Given the description of an element on the screen output the (x, y) to click on. 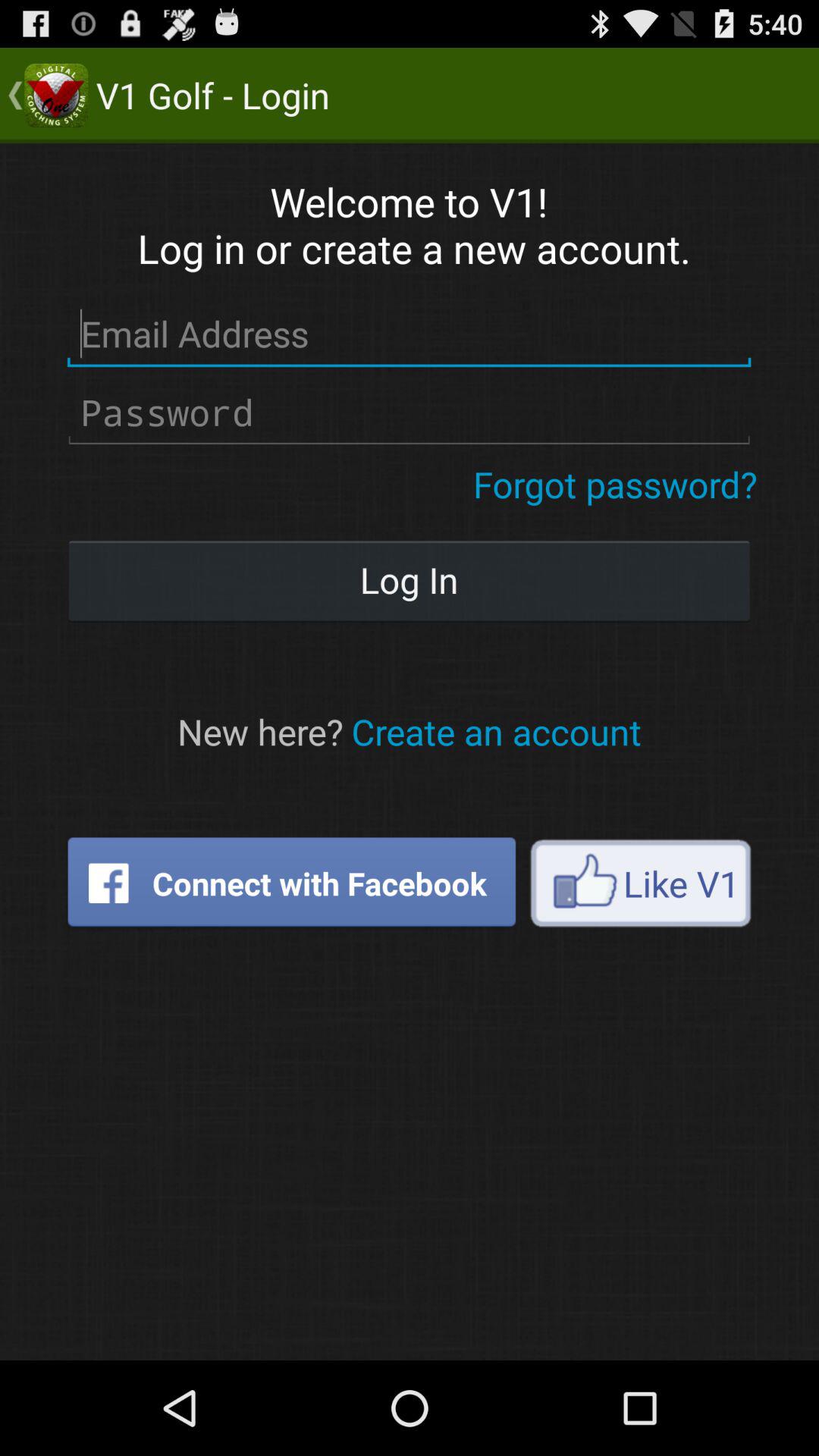
scroll until the forgot password? item (615, 484)
